Given the description of an element on the screen output the (x, y) to click on. 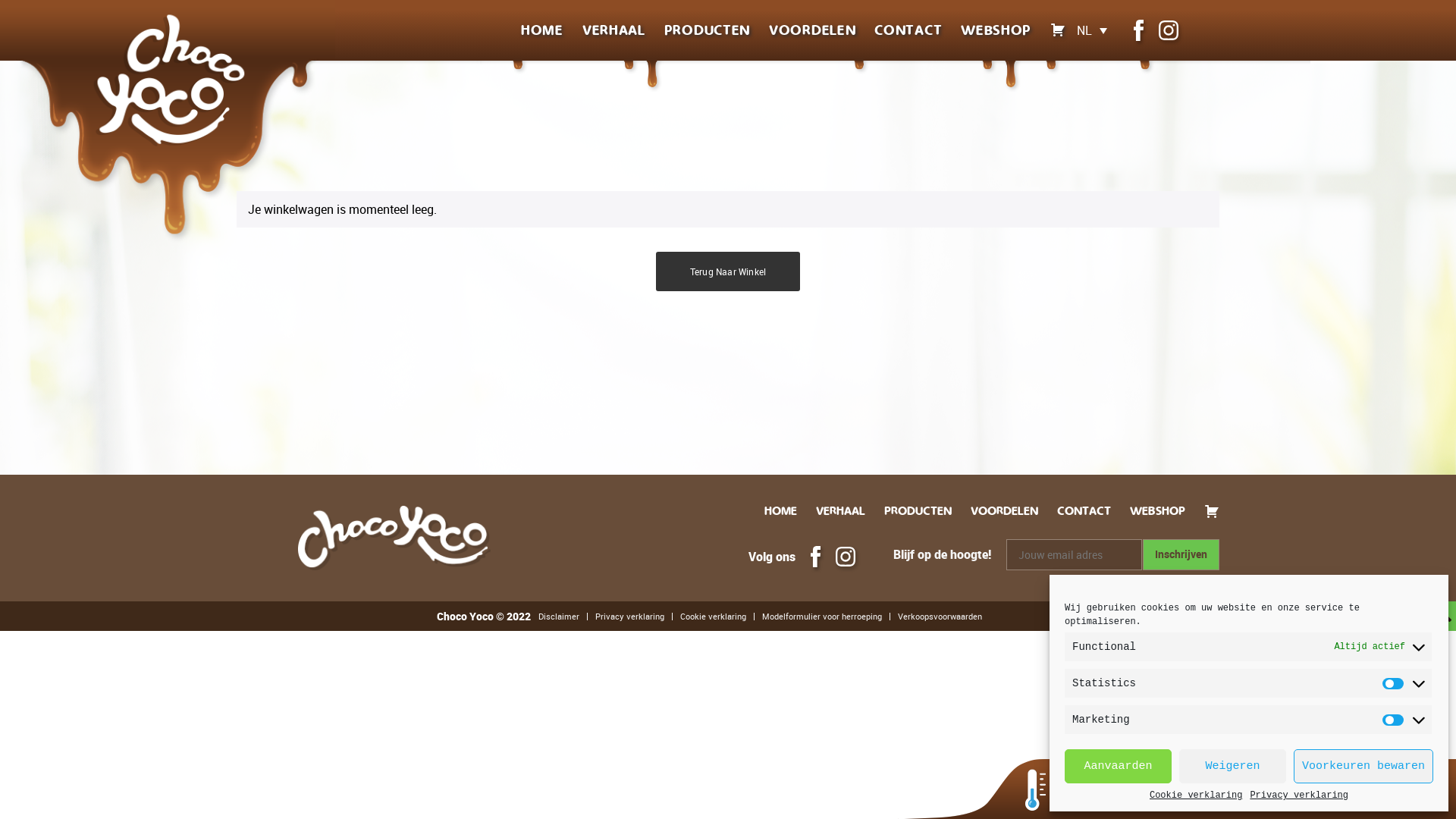
WEBSHOP Element type: text (995, 30)
Privacy verklaring Element type: text (1298, 795)
Aanvaarden Element type: text (1117, 766)
Voorkeuren bewaren Element type: text (1363, 766)
HOME Element type: text (780, 510)
VOORDELEN Element type: text (811, 30)
PRODUCTEN Element type: text (706, 30)
NL Element type: text (1091, 29)
HOME Element type: text (542, 30)
CONTACT Element type: text (1083, 510)
CONTACT Element type: text (907, 30)
Cookie verklaring Element type: text (1195, 795)
VERHAAL Element type: text (840, 510)
Weigeren Element type: text (1232, 766)
Disclaimer Element type: text (558, 616)
PRODUCTEN Element type: text (917, 510)
VERHAAL Element type: text (613, 30)
WEBSHOP Element type: text (1157, 510)
Cookie verklaring Element type: text (713, 616)
VOORDELEN Element type: text (1004, 510)
Privacy verklaring Element type: text (629, 616)
Terug Naar Winkel Element type: text (727, 271)
Verkoopsvoorwaarden Element type: text (939, 616)
Modelformulier voor herroeping Element type: text (821, 616)
Inschrijven Element type: text (1180, 554)
